Given the description of an element on the screen output the (x, y) to click on. 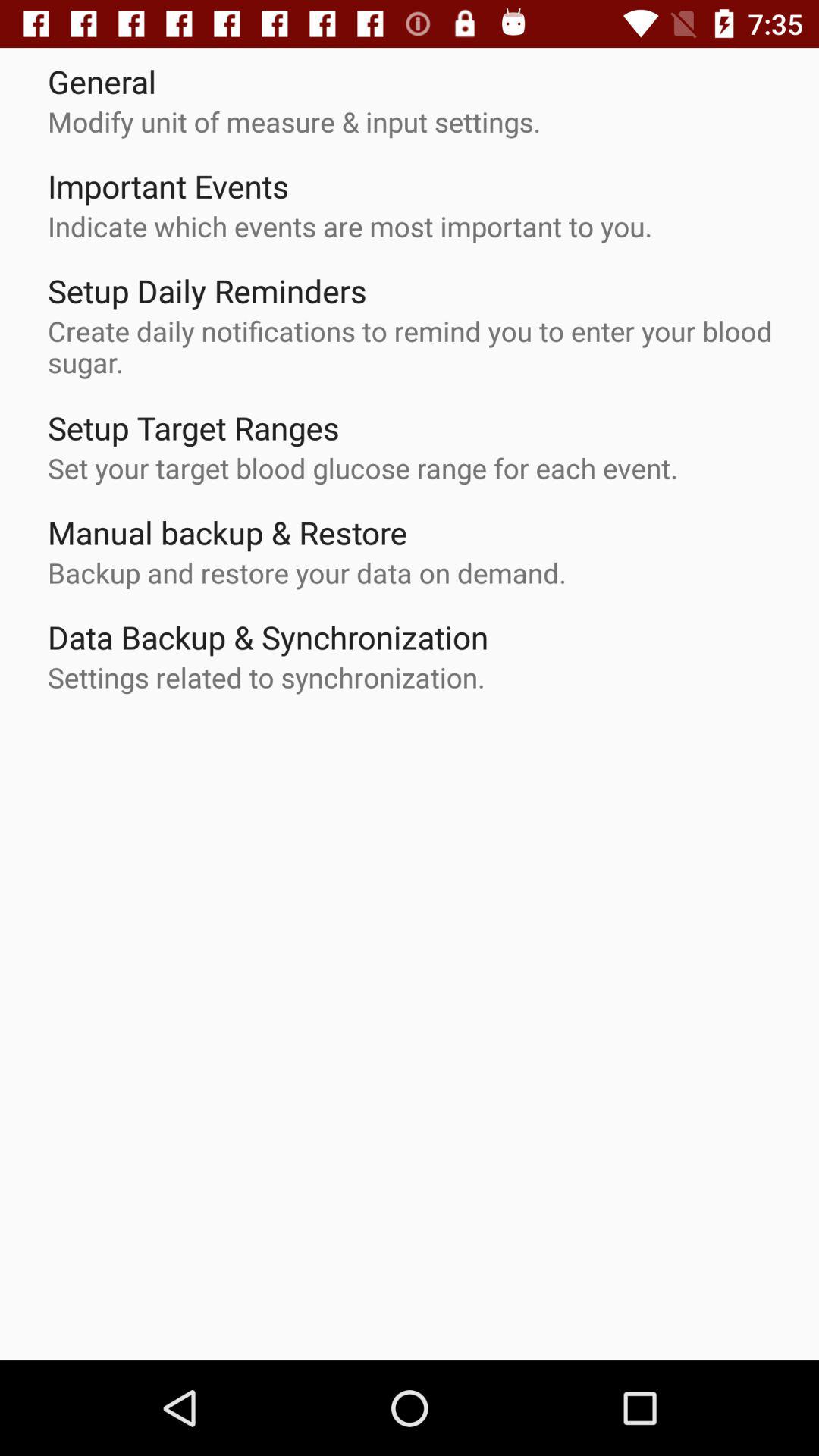
tap the general app (101, 80)
